Given the description of an element on the screen output the (x, y) to click on. 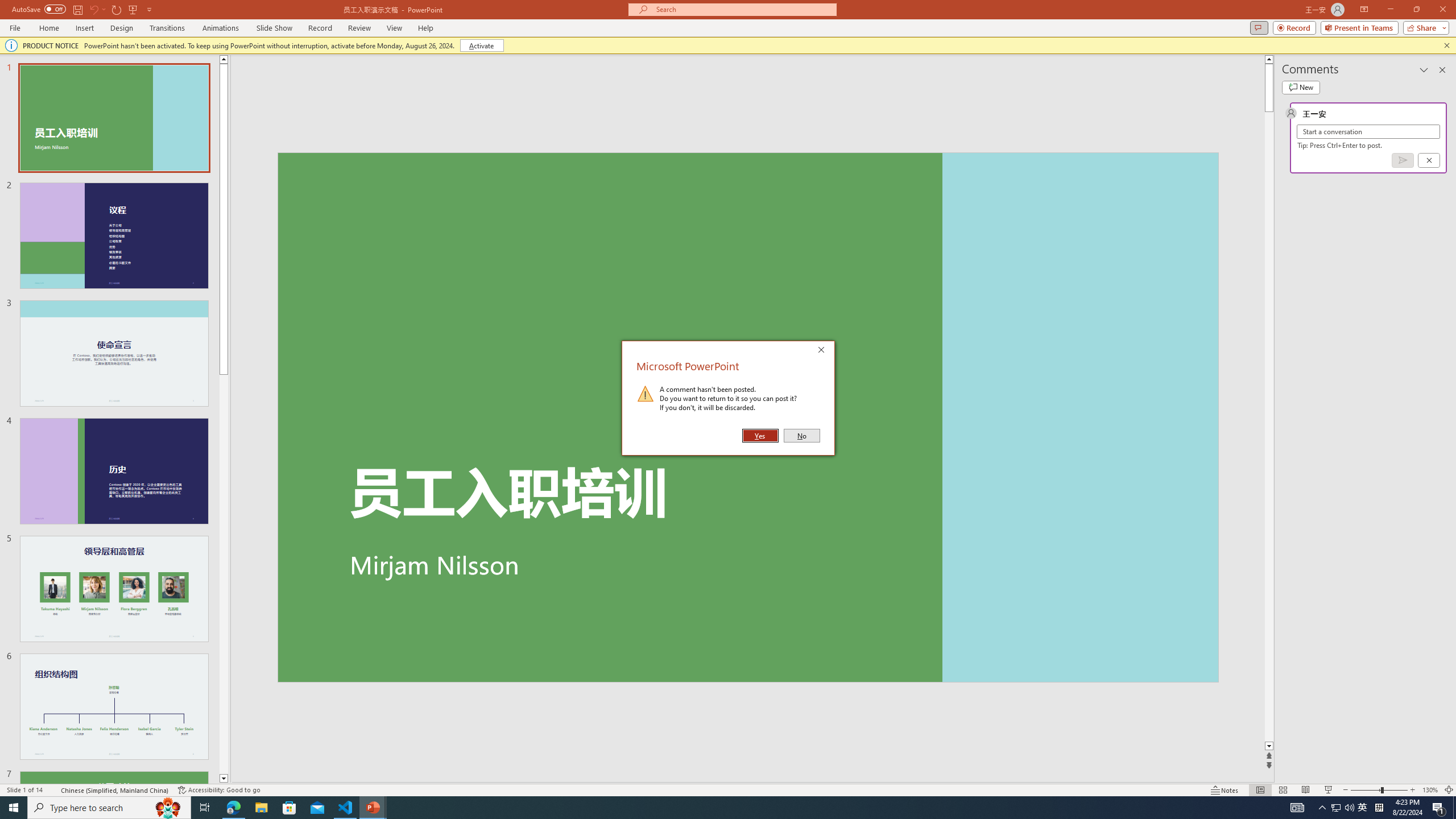
No (801, 435)
